Given the description of an element on the screen output the (x, y) to click on. 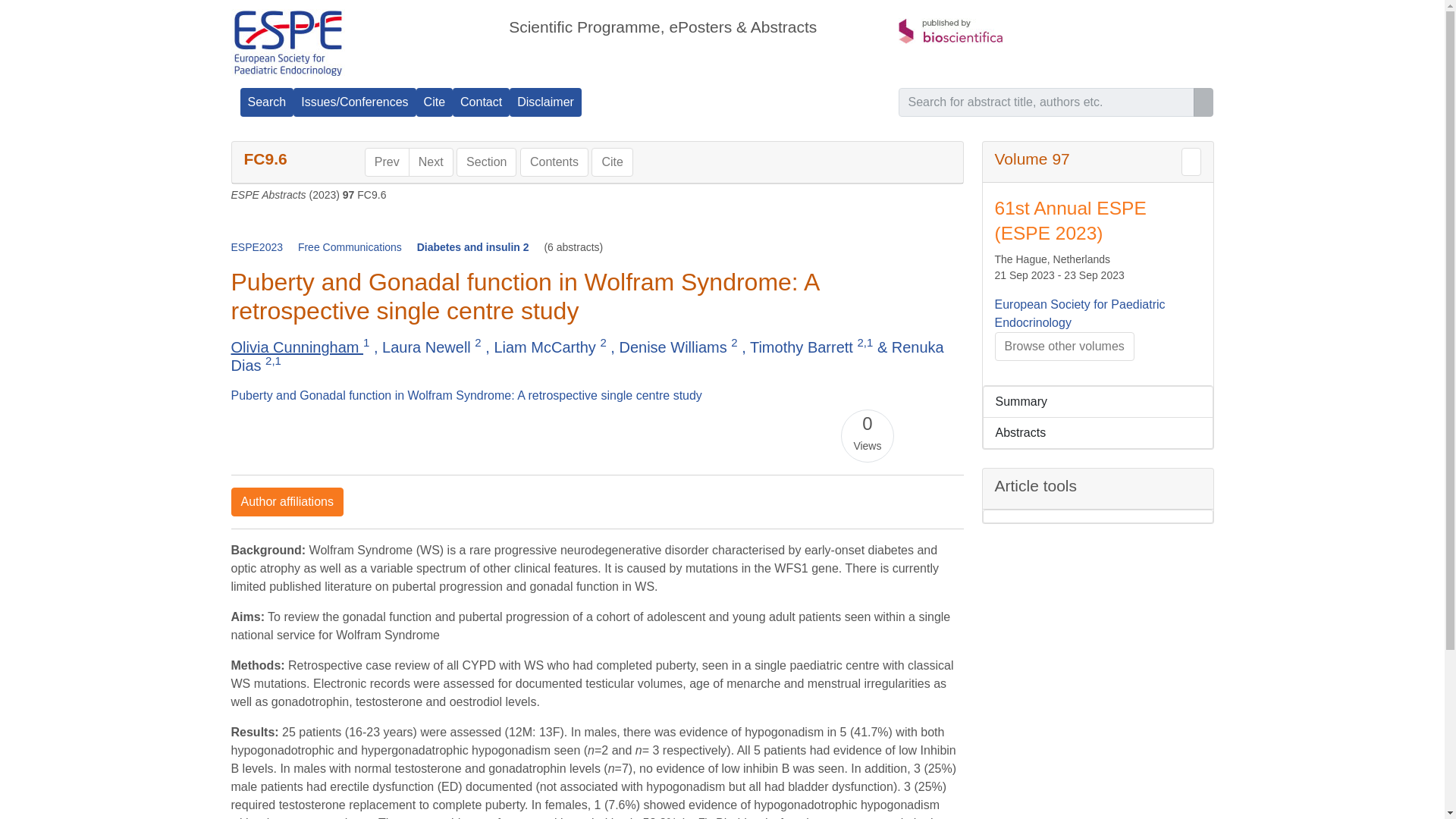
Next (430, 162)
Laura Newell (427, 347)
Summary (1097, 401)
Free Communications (351, 246)
Search (267, 102)
Diabetes and insulin 2 (474, 246)
Abstracts (1097, 432)
Cite (434, 102)
Author affiliations (286, 501)
